Given the description of an element on the screen output the (x, y) to click on. 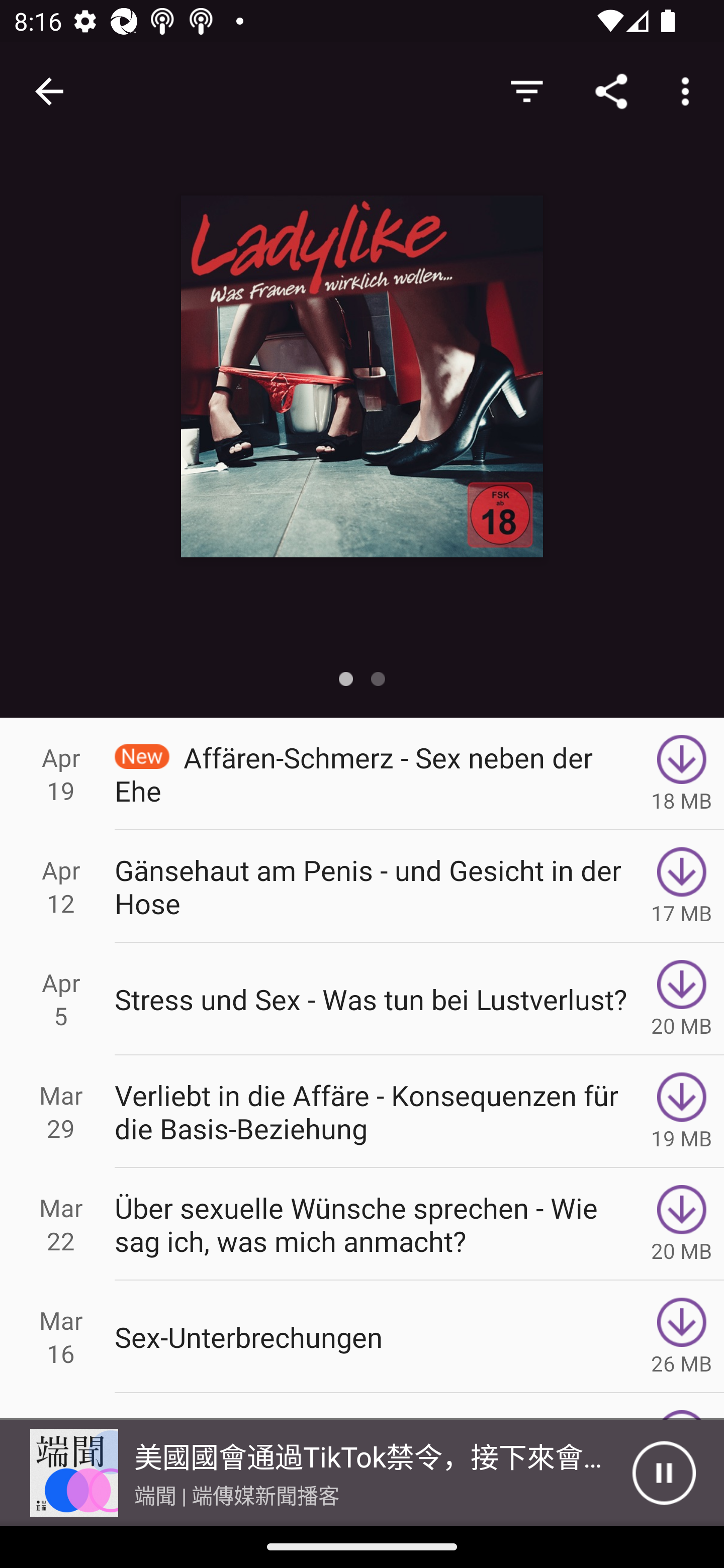
Navigate up (49, 91)
Hide Episodes (526, 90)
Share Link (611, 90)
More options (688, 90)
Download 18 MB (681, 773)
Download 17 MB (681, 885)
Download 20 MB (681, 998)
Download 19 MB (681, 1111)
Download 20 MB (681, 1224)
Mar 16 Sex-Unterbrechungen Download 26 MB (362, 1336)
Download 26 MB (681, 1336)
Picture 美國國會通過TikTok禁令，接下來會發生什麼？ 端聞 | 端傳媒新聞播客 (316, 1472)
Pause (663, 1472)
